Given the description of an element on the screen output the (x, y) to click on. 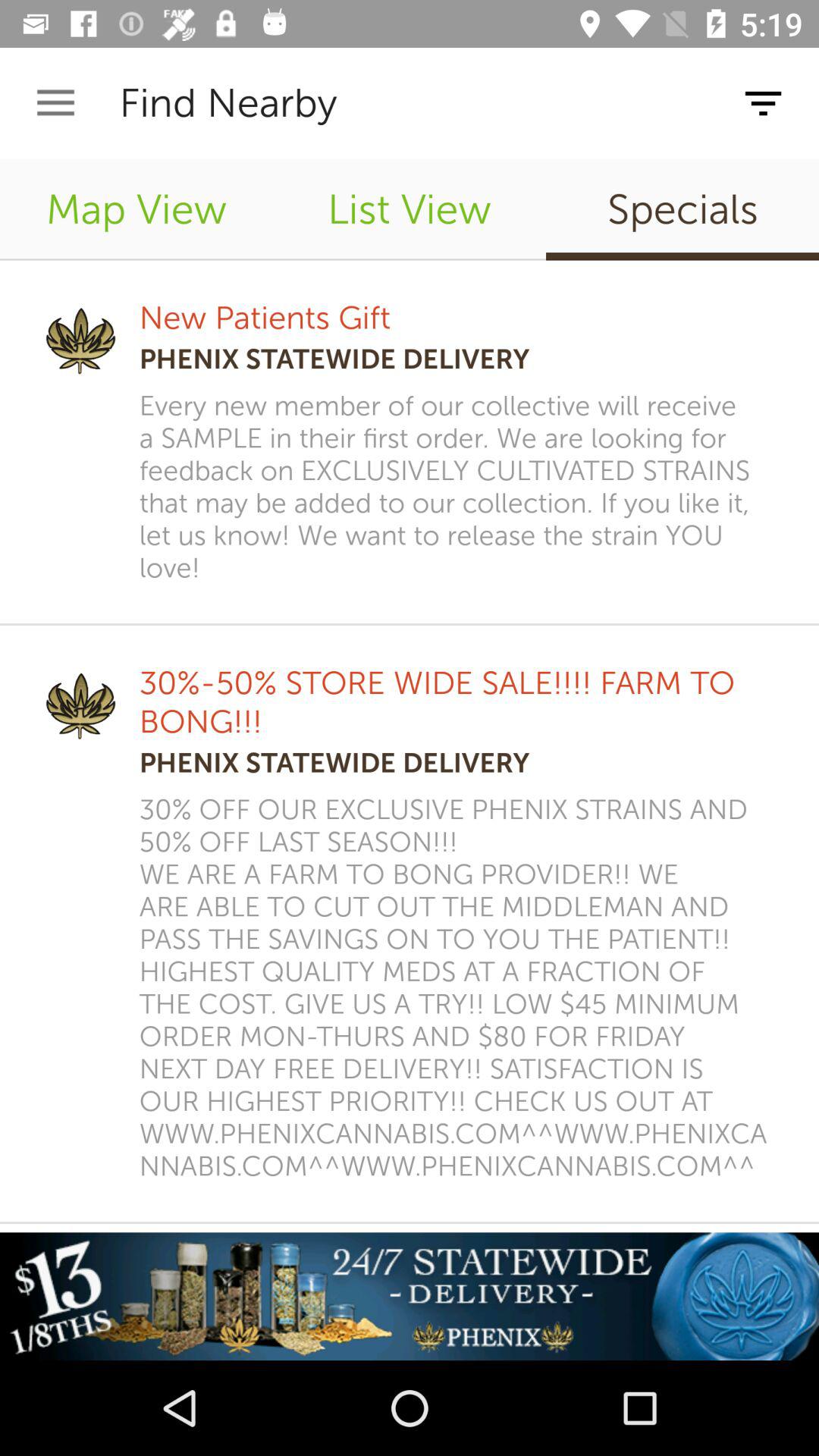
click item below phenix statewide delivery icon (459, 486)
